Given the description of an element on the screen output the (x, y) to click on. 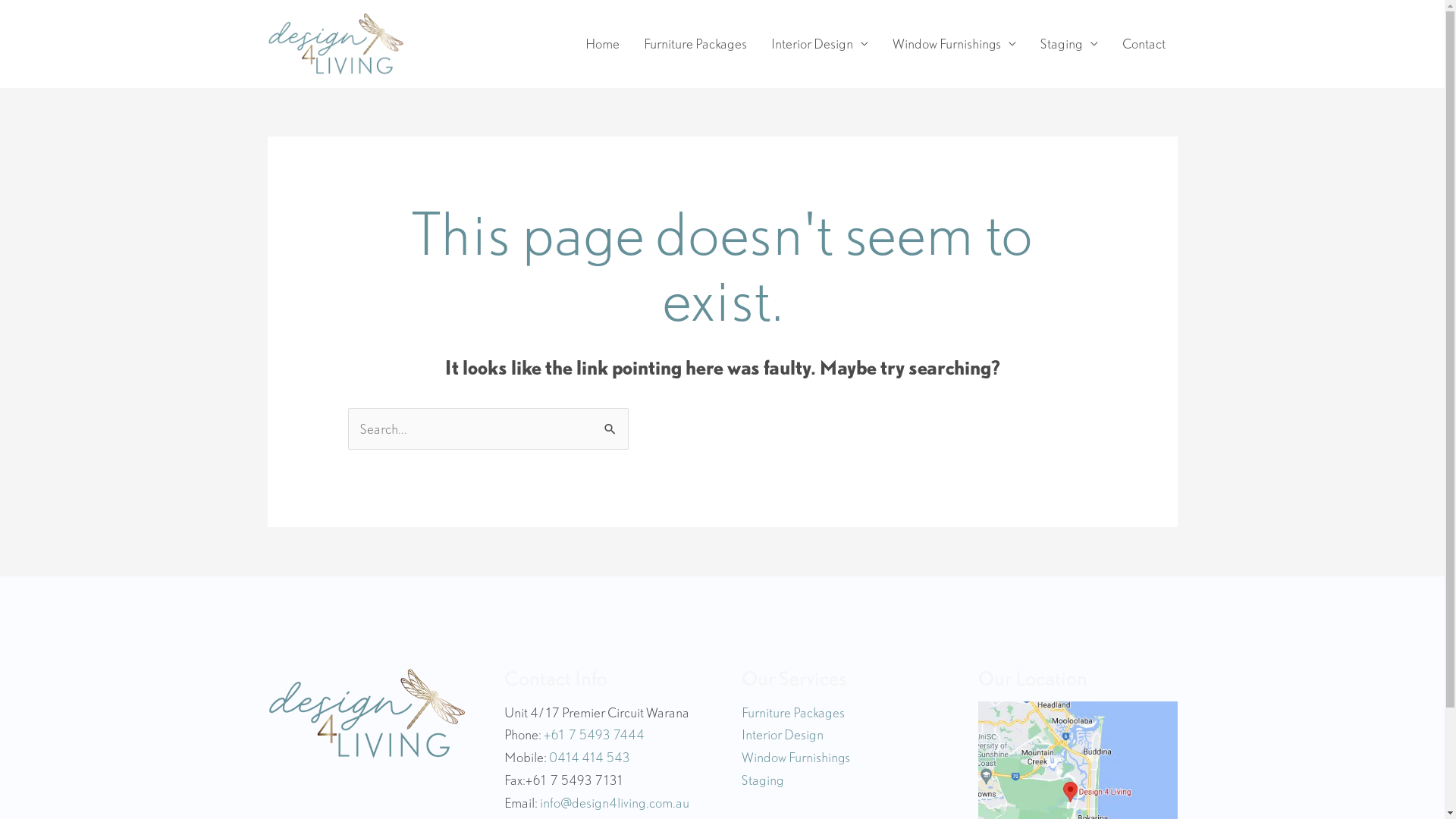
Furniture Packages Element type: text (792, 712)
Window Furnishings Element type: text (795, 757)
Window Furnishings Element type: text (953, 43)
Home Element type: text (602, 43)
Search Element type: text (611, 422)
Contact Element type: text (1143, 43)
0414 414 543 Element type: text (589, 757)
+61 7 5493 7444 Element type: text (593, 734)
Staging Element type: text (762, 779)
Interior Design Element type: text (818, 43)
Furniture Packages Element type: text (694, 43)
info@design4living.com.au Element type: text (614, 802)
Staging Element type: text (1069, 43)
Interior Design Element type: text (782, 734)
